Given the description of an element on the screen output the (x, y) to click on. 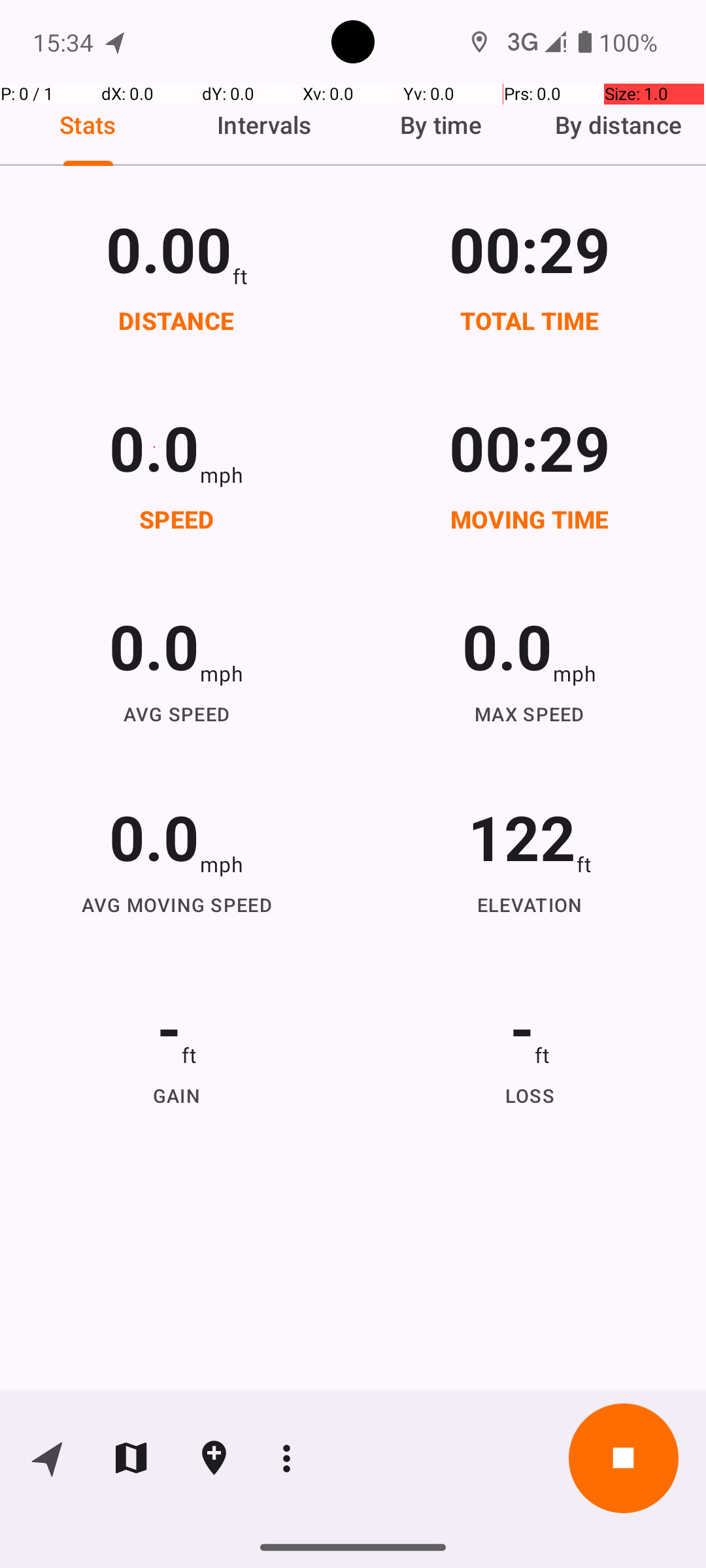
Insert marker Element type: android.widget.Button (213, 1458)
Stop Element type: android.widget.ImageButton (623, 1458)
0.00 Element type: android.widget.TextView (168, 248)
00:30 Element type: android.widget.TextView (529, 248)
0.0 Element type: android.widget.TextView (154, 446)
00:29 Element type: android.widget.TextView (529, 446)
122 Element type: android.widget.TextView (521, 836)
- Element type: android.widget.TextView (168, 1026)
